Given the description of an element on the screen output the (x, y) to click on. 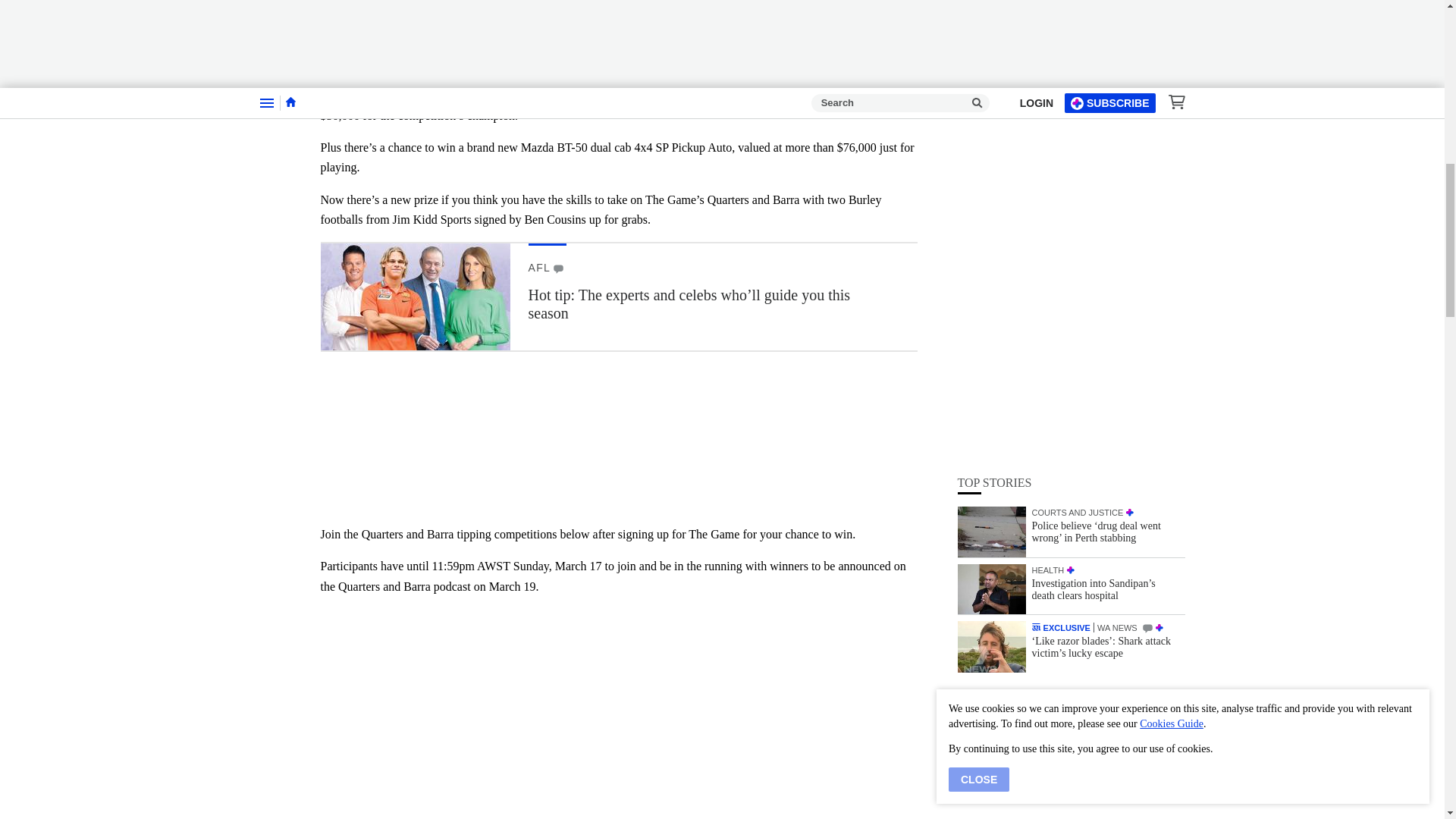
COMMENTS (558, 268)
THE WEST AUSTRALIAN (1035, 225)
PREMIUM (1070, 168)
PREMIUM (1129, 111)
